Given the description of an element on the screen output the (x, y) to click on. 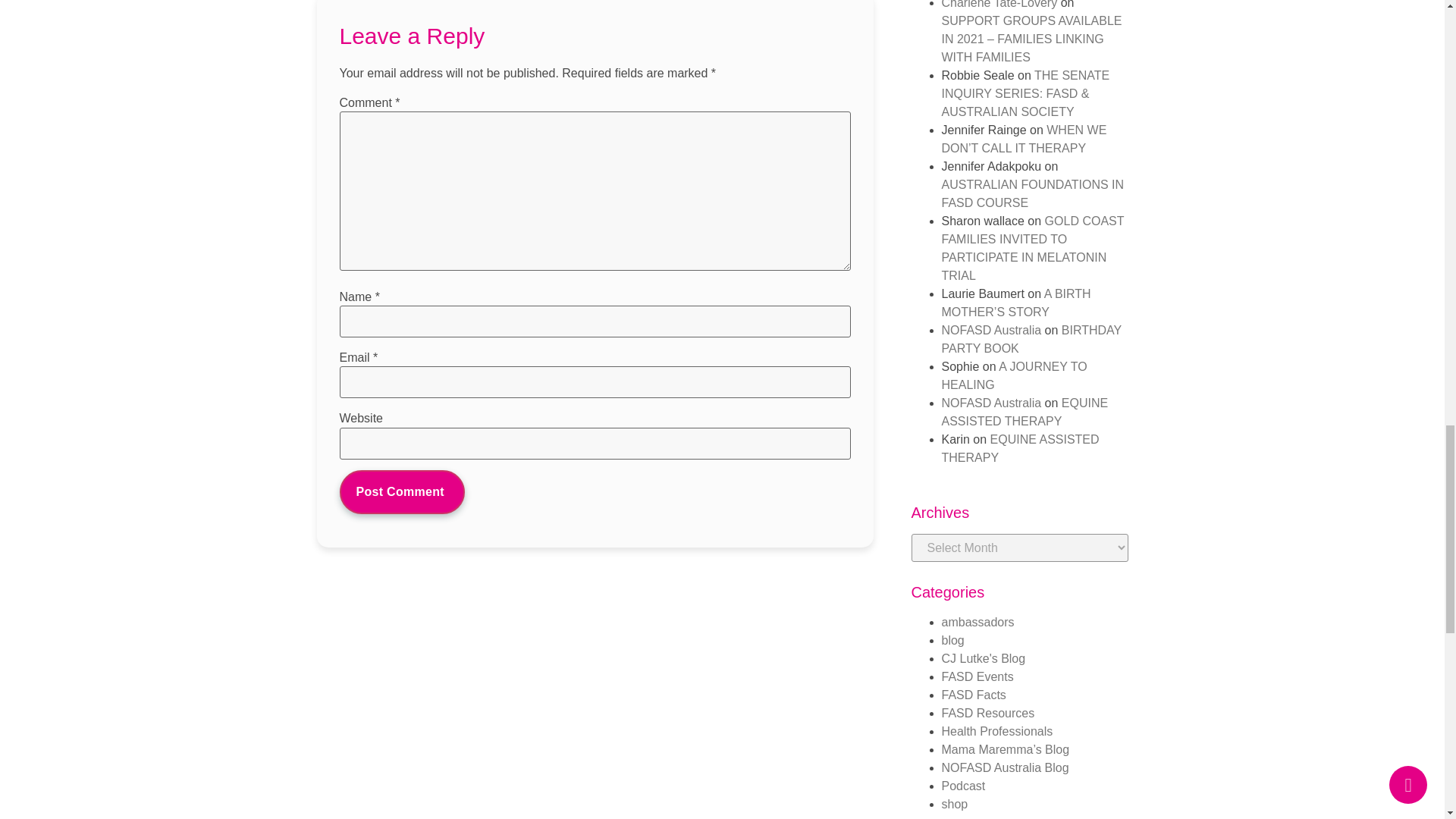
Post Comment (402, 492)
